Given the description of an element on the screen output the (x, y) to click on. 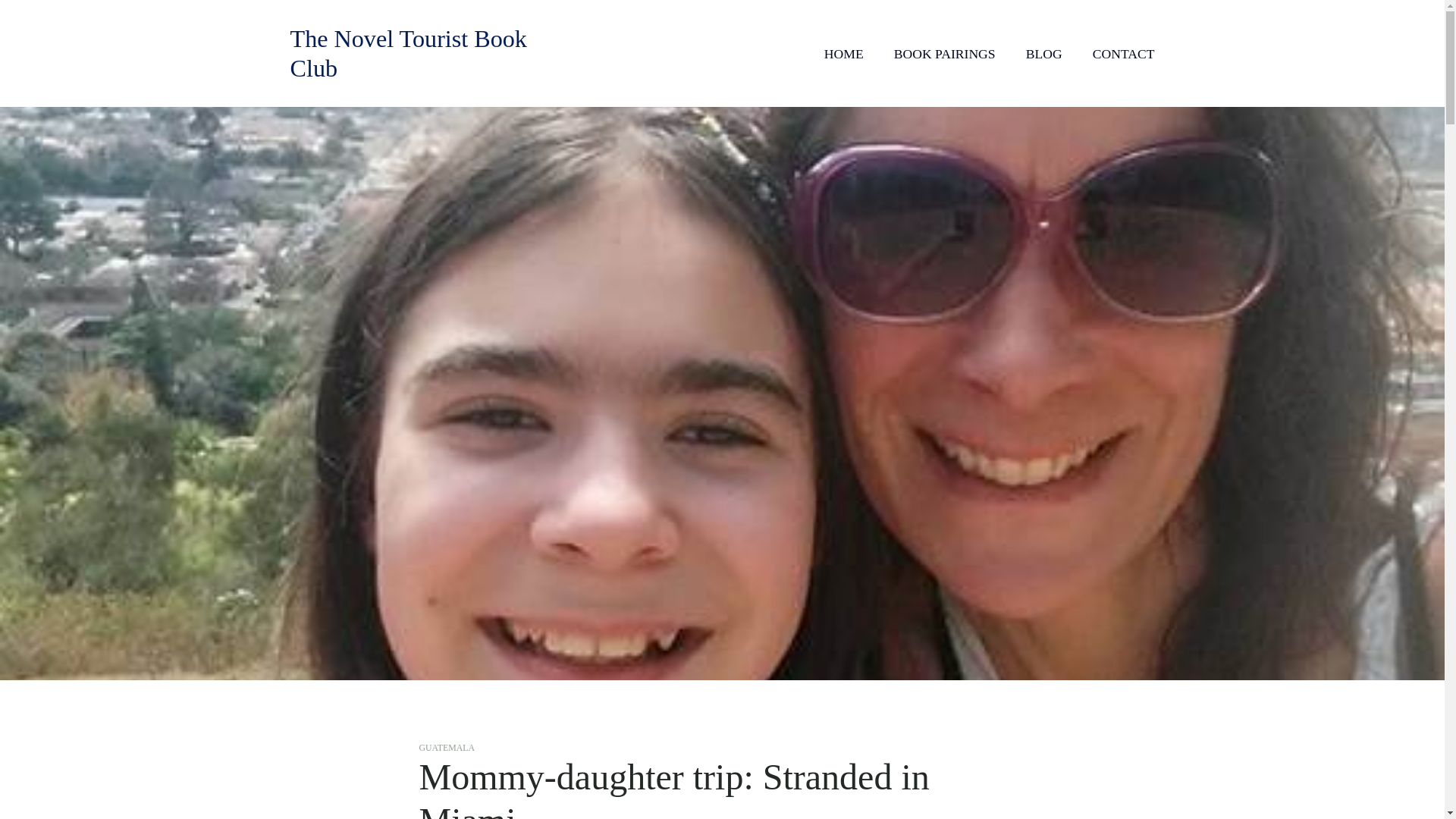
The Novel Tourist Book Club (407, 53)
GUATEMALA (446, 747)
BLOG (1044, 52)
HOME (843, 52)
BOOK PAIRINGS (944, 52)
CONTACT (1123, 52)
